Given the description of an element on the screen output the (x, y) to click on. 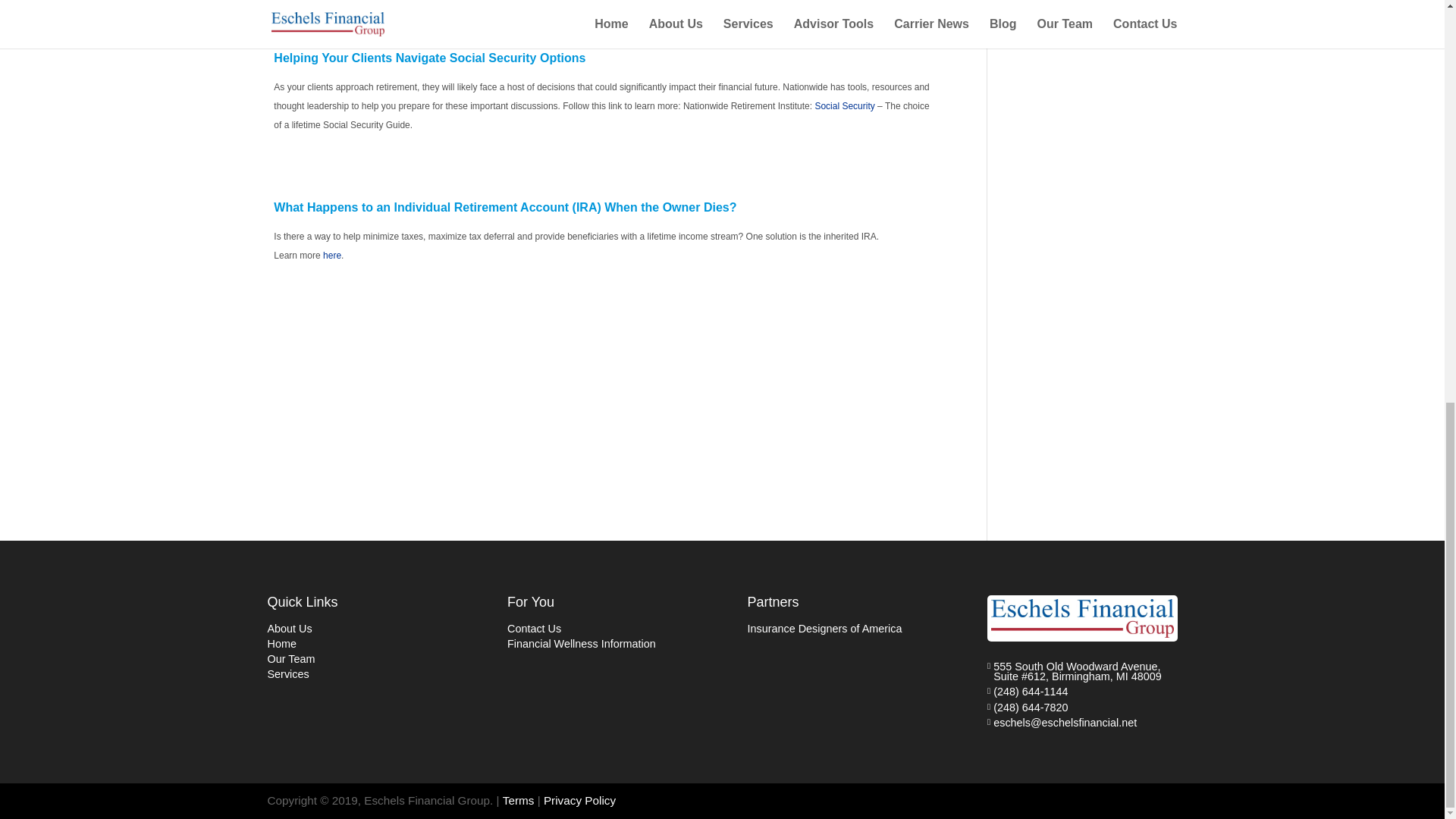
Social Security (844, 105)
here (331, 255)
